Given the description of an element on the screen output the (x, y) to click on. 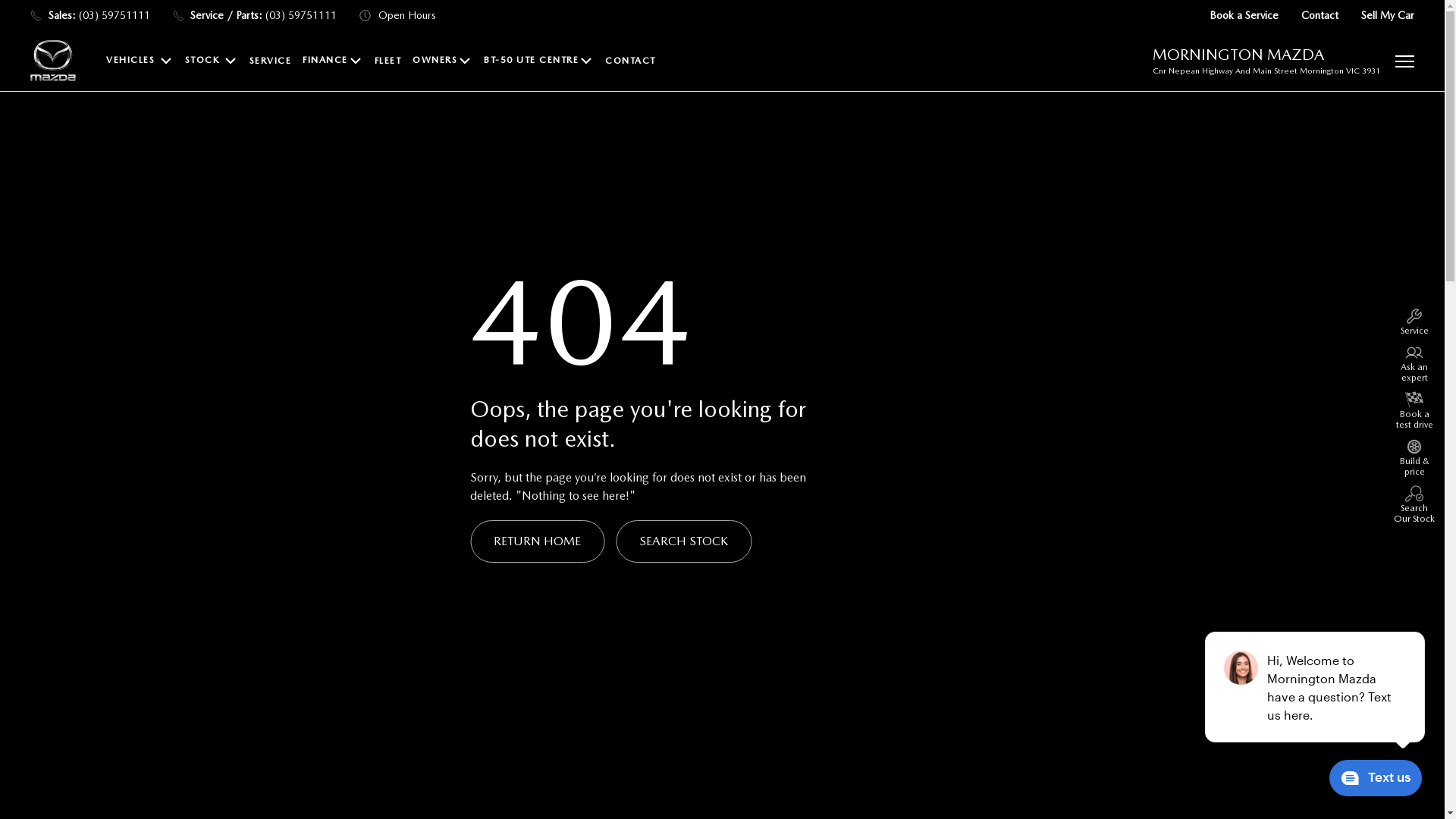
Book a Service Element type: text (1243, 15)
OWNERS Element type: text (442, 60)
podium webchat widget prompt Element type: hover (1315, 686)
Ask an expert Element type: text (1414, 362)
Service / Parts: (03) 59751111 Element type: text (254, 15)
STOCK
STOCK Element type: text (211, 60)
Service Element type: text (1414, 321)
RETURN HOME Element type: text (537, 541)
FINANCE Element type: text (332, 60)
Open Hours Element type: text (397, 15)
Sell My Car Element type: text (1387, 15)
Contact Element type: text (1319, 15)
Search Our Stock Element type: text (1414, 504)
SERVICE Element type: text (269, 60)
CONTACT Element type: text (630, 60)
BT-50 UTE CENTRE Element type: text (538, 60)
Build & price Element type: text (1414, 456)
Book a test drive Element type: text (1414, 409)
SEARCH STOCK Element type: text (683, 541)
FLEET Element type: text (387, 60)
Sales: (03) 59751111 Element type: text (90, 15)
VEHICLES
VEHICLES Element type: text (139, 60)
